Given the description of an element on the screen output the (x, y) to click on. 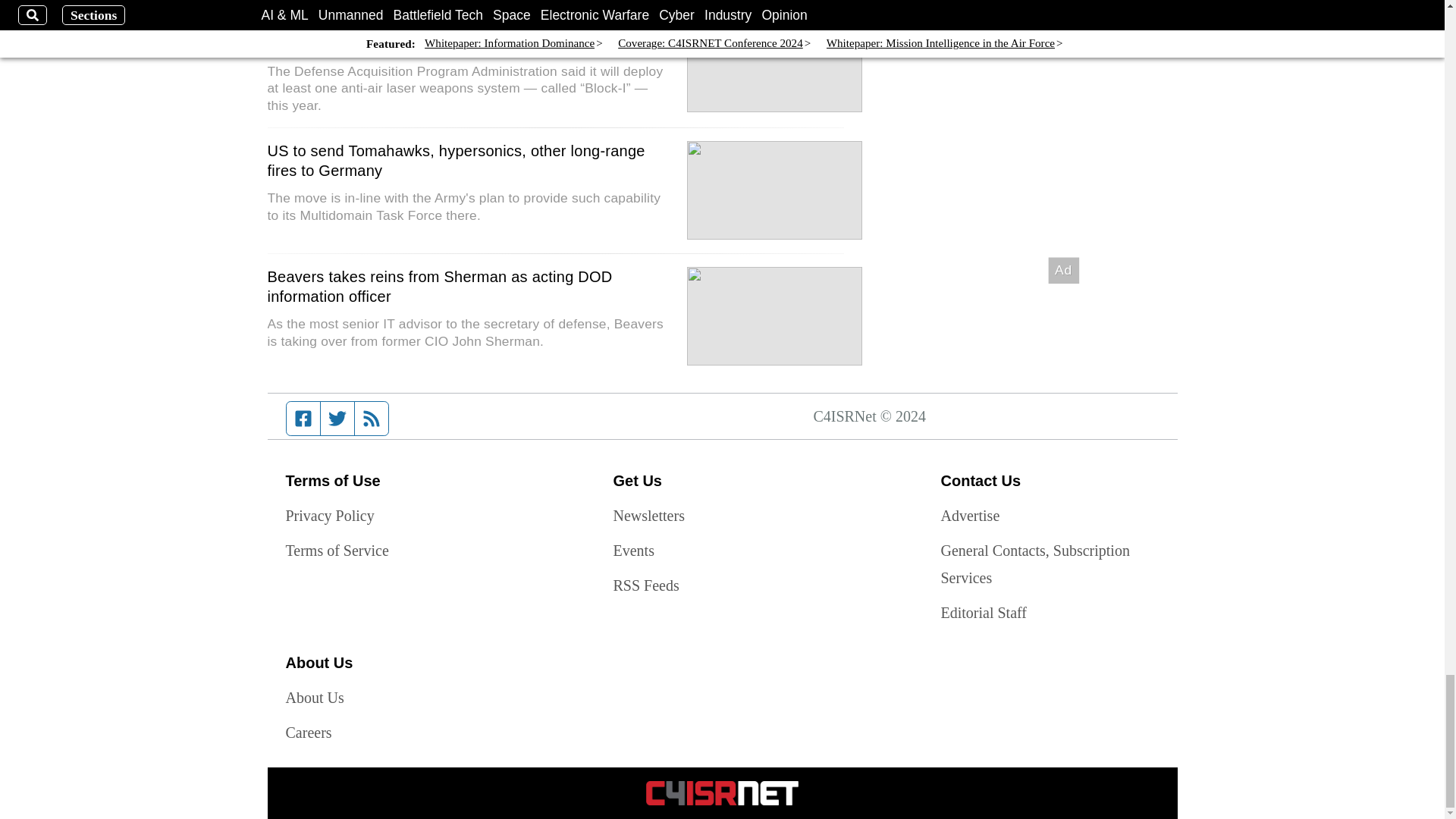
Twitter feed (336, 418)
RSS feed (371, 418)
Facebook page (303, 418)
